Given the description of an element on the screen output the (x, y) to click on. 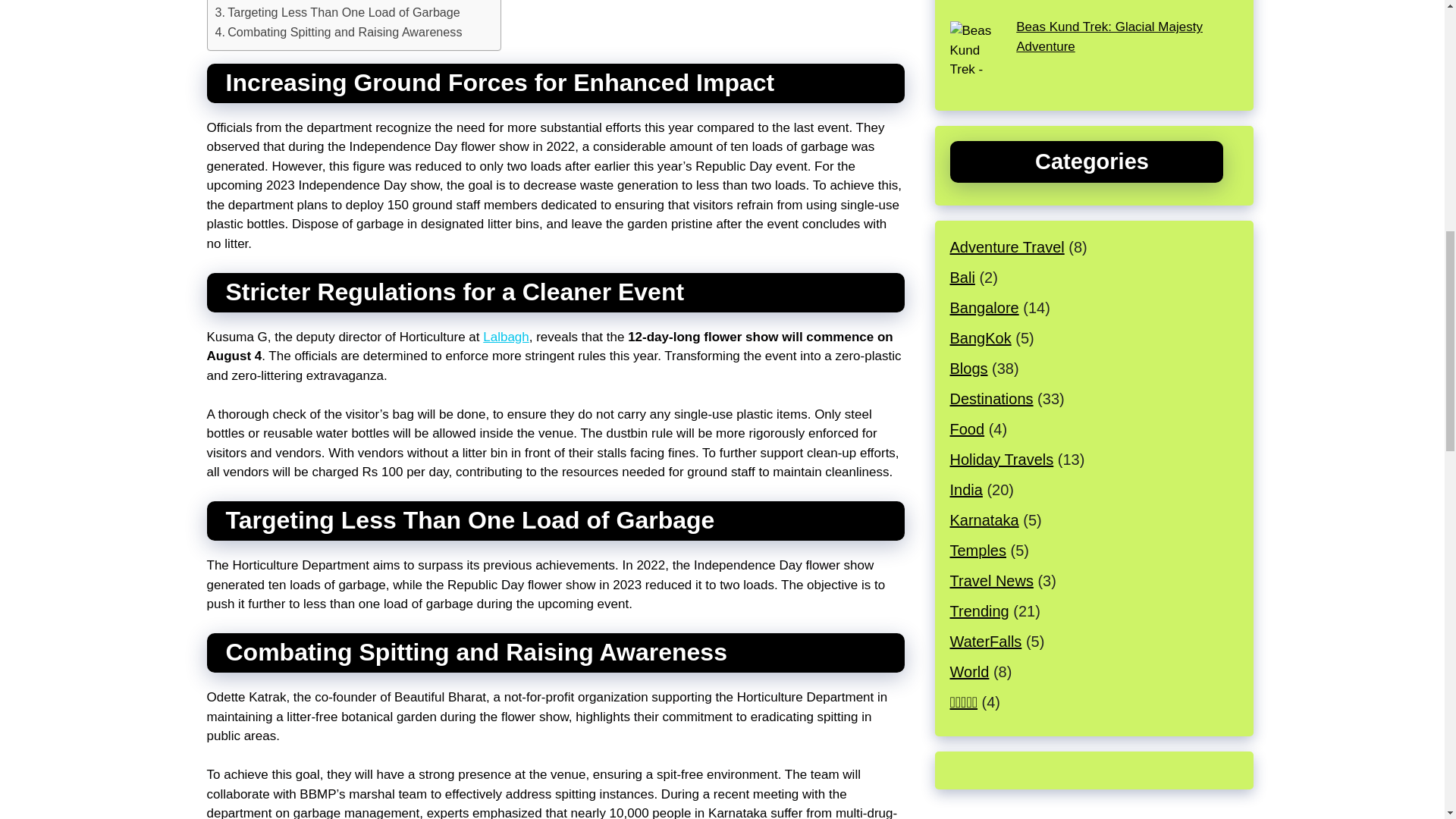
Stricter Regulations for a Cleaner Event (329, 1)
Stricter Regulations for a Cleaner Event (329, 1)
Targeting Less Than One Load of Garbage (337, 12)
Targeting Less Than One Load of Garbage (337, 12)
Scroll back to top (1406, 720)
Combating Spitting and Raising Awareness (339, 32)
Combating Spitting and Raising Awareness (339, 32)
Lalbagh (506, 336)
